Given the description of an element on the screen output the (x, y) to click on. 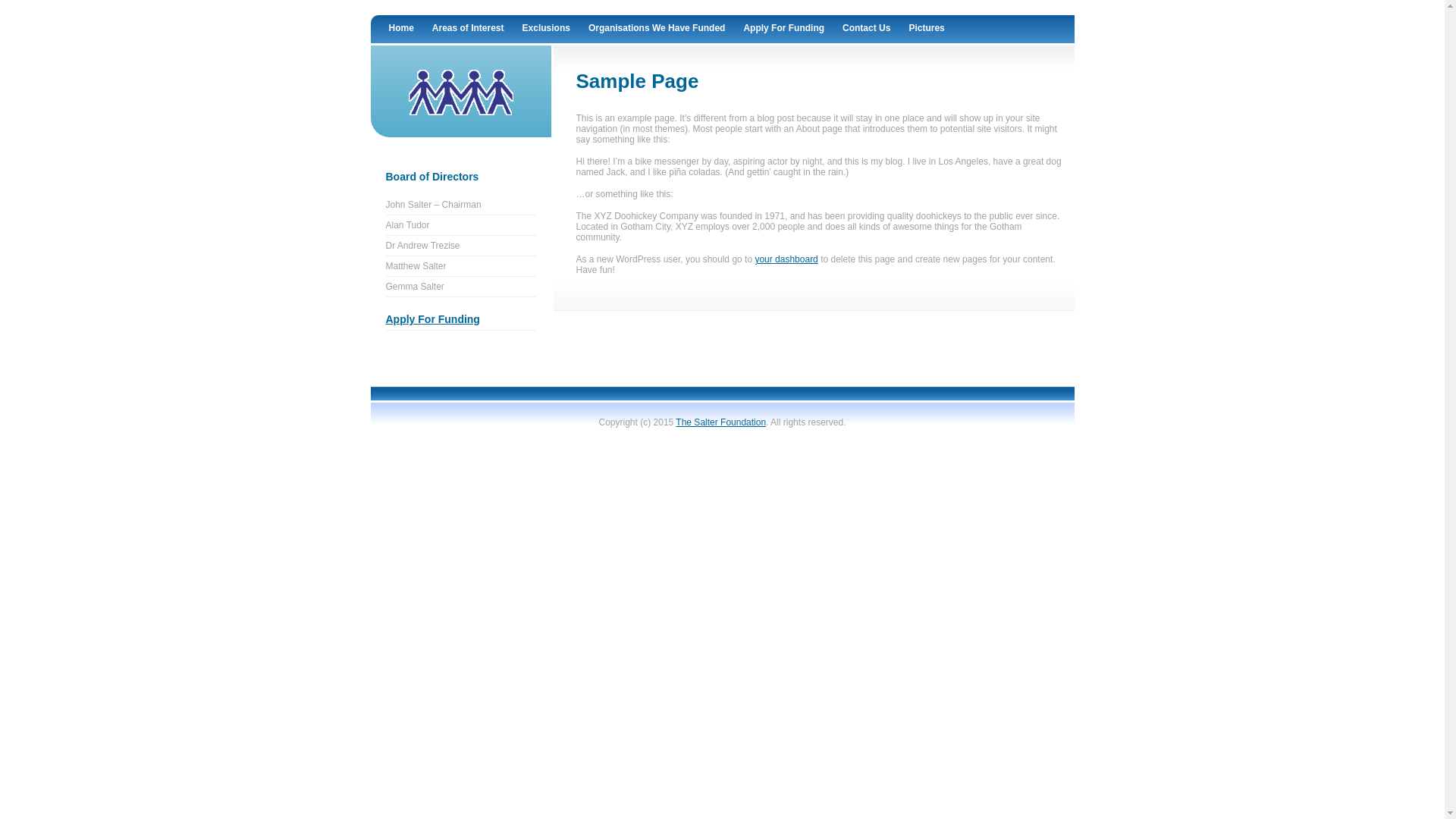
Exclusions Element type: text (546, 29)
The Salter Foundation Element type: text (720, 422)
Apply For Funding Element type: text (432, 319)
Home Element type: text (400, 29)
Pictures Element type: text (926, 29)
Organisations We Have Funded Element type: text (656, 29)
Apply For Funding Element type: text (783, 29)
Contact Us Element type: text (866, 29)
Areas of Interest Element type: text (468, 29)
your dashboard Element type: text (785, 259)
